Given the description of an element on the screen output the (x, y) to click on. 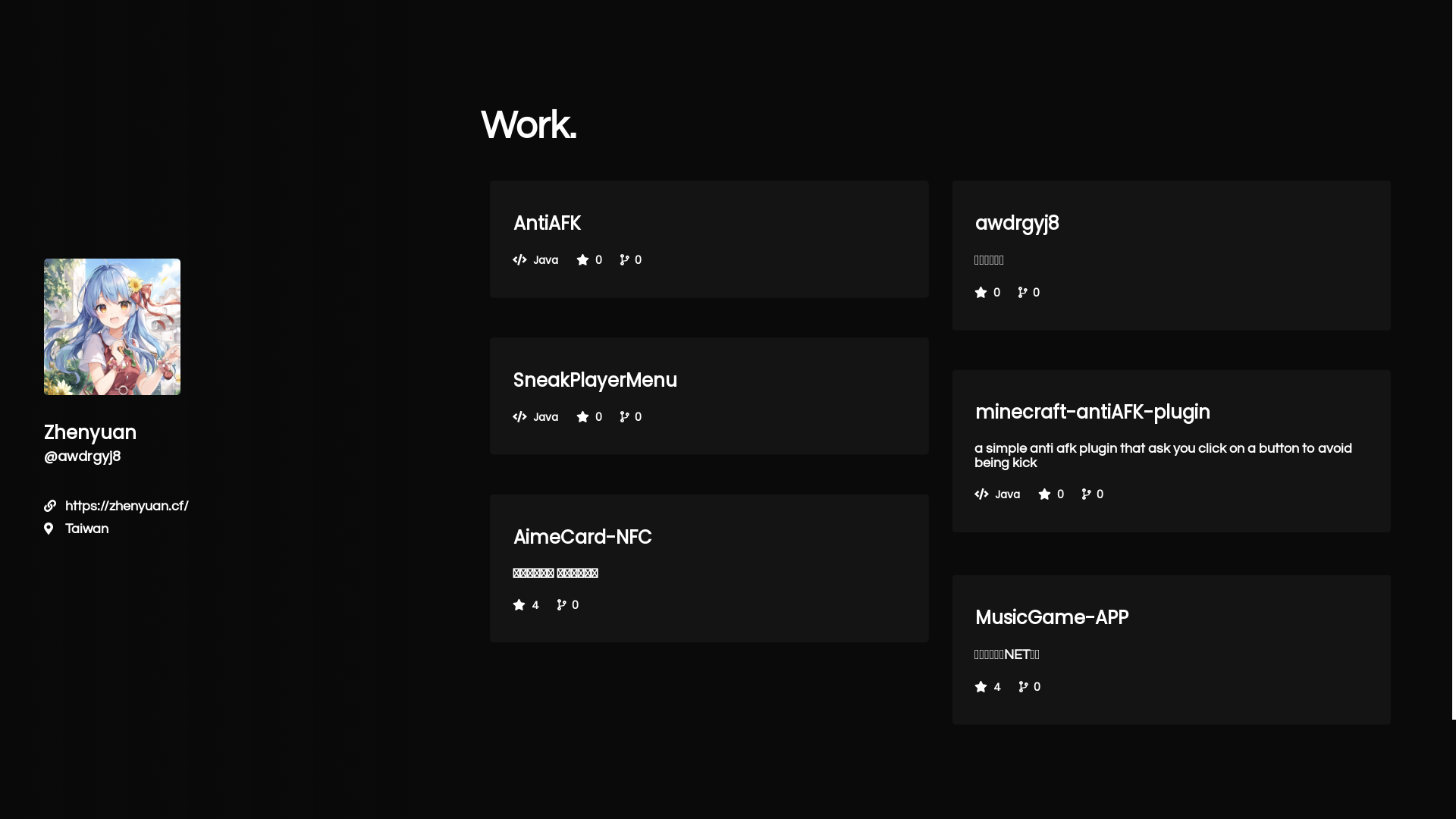
SneakPlayerMenu
  Java   0   0 Element type: text (708, 396)
https://zhenyuan.cf/ Element type: text (126, 505)
AntiAFK
  Java   0   0 Element type: text (708, 239)
@awdrgyj8 Element type: text (81, 455)
